Given the description of an element on the screen output the (x, y) to click on. 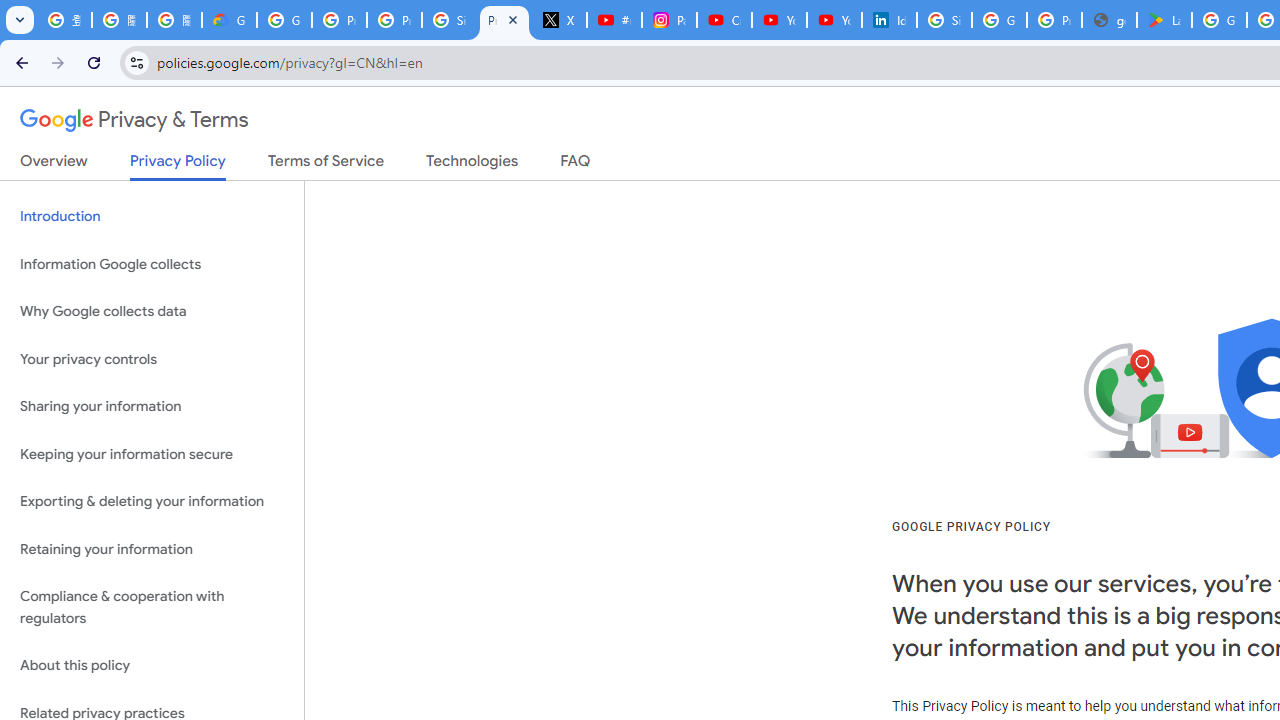
Retaining your information (152, 548)
Keeping your information secure (152, 453)
Sharing your information (152, 407)
#nbabasketballhighlights - YouTube (614, 20)
